Given the description of an element on the screen output the (x, y) to click on. 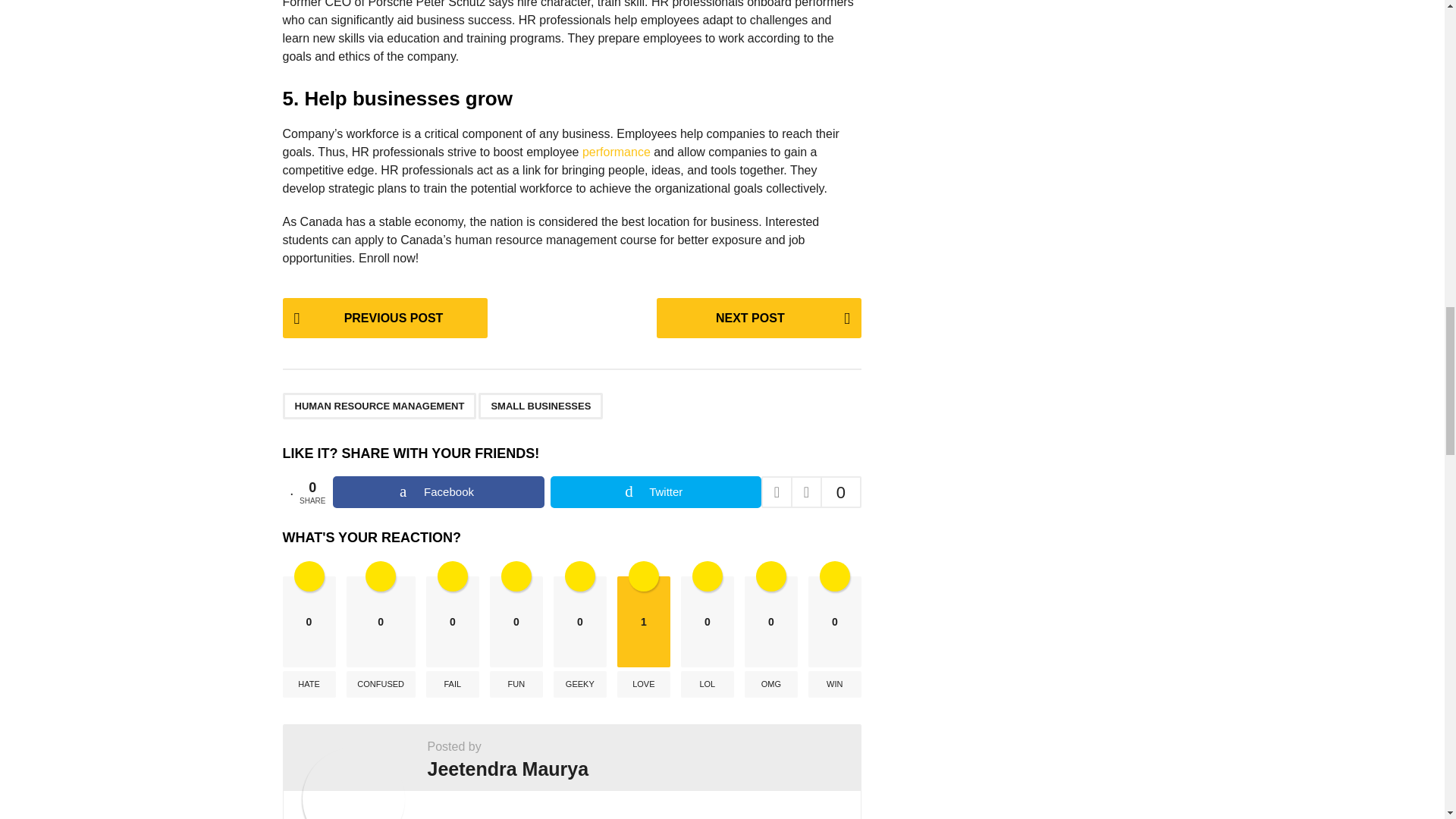
PREVIOUS POST (384, 318)
Share on Twitter (655, 491)
HUMAN RESOURCE MANAGEMENT (379, 406)
Share on Facebook (438, 491)
NEXT POST (758, 318)
SMALL BUSINESSES (540, 406)
performance (616, 151)
